Given the description of an element on the screen output the (x, y) to click on. 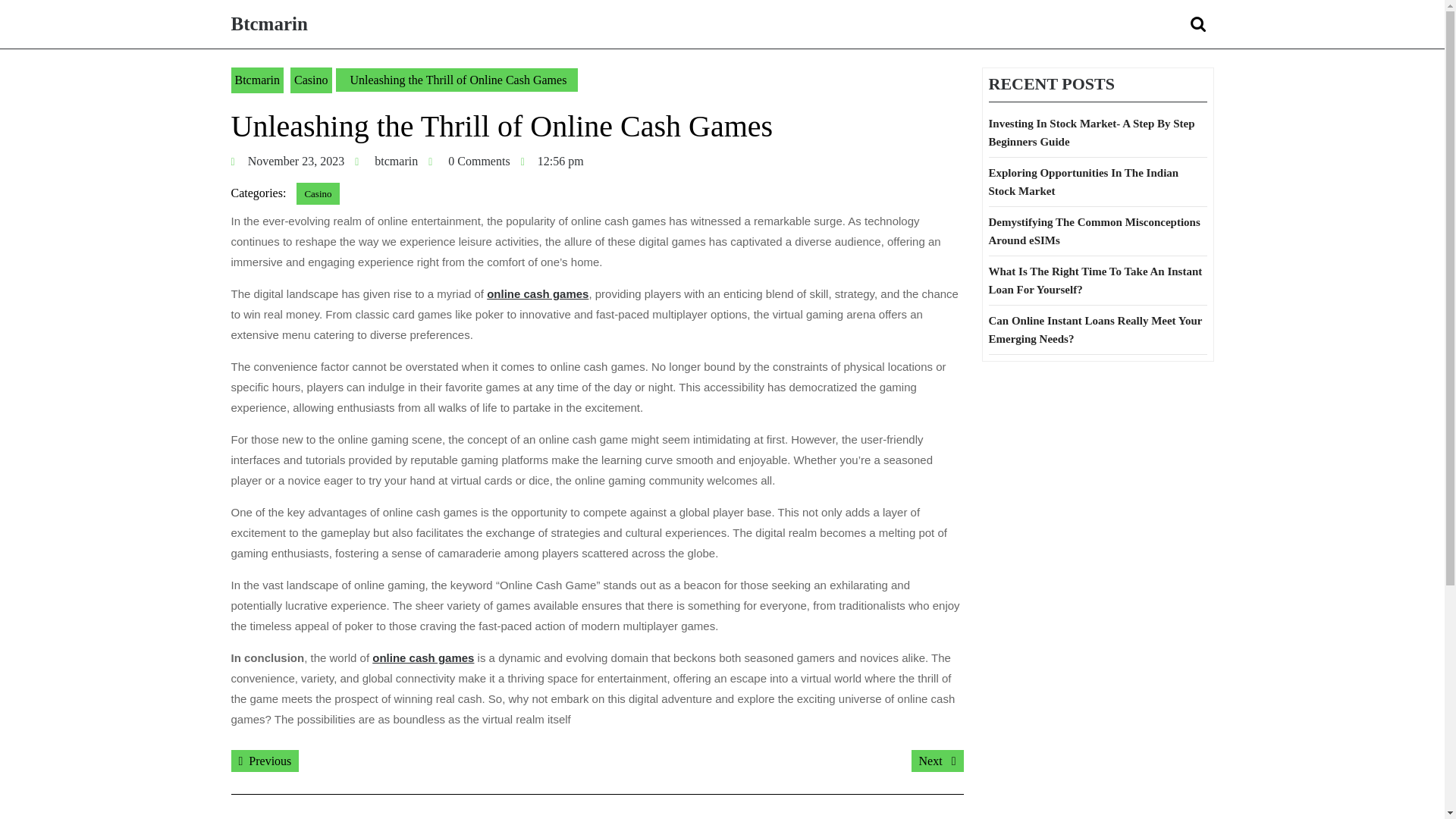
Demystifying The Common Misconceptions Around eSIMs (396, 160)
Search (264, 761)
Search (937, 761)
online cash games (1093, 231)
Btcmarin (1200, 23)
Casino (298, 160)
Can Online Instant Loans Really Meet Your Emerging Needs? (1200, 23)
What Is The Right Time To Take An Instant Loan For Yourself? (423, 657)
Search (268, 23)
Casino (318, 193)
Btcmarin (1095, 329)
